Given the description of an element on the screen output the (x, y) to click on. 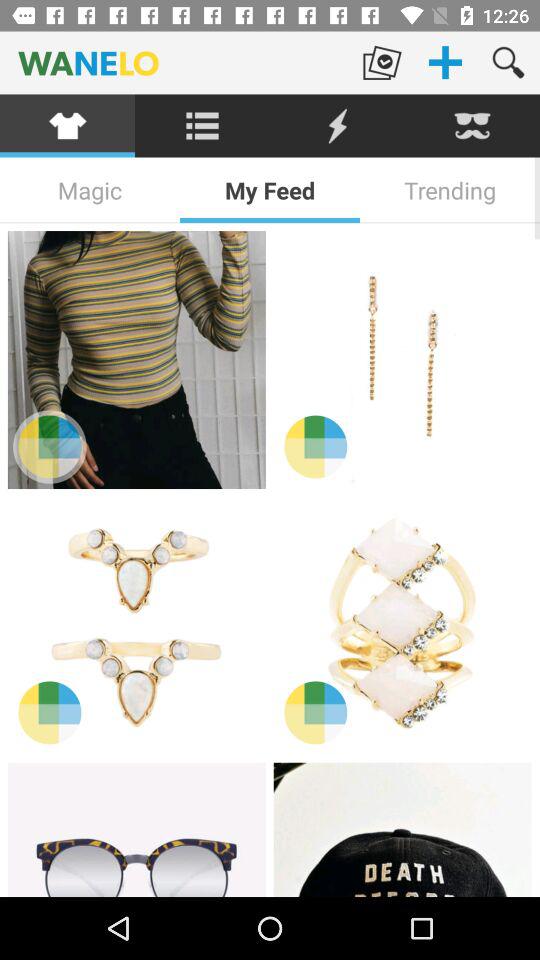
turn on the item above the trending item (472, 125)
